Given the description of an element on the screen output the (x, y) to click on. 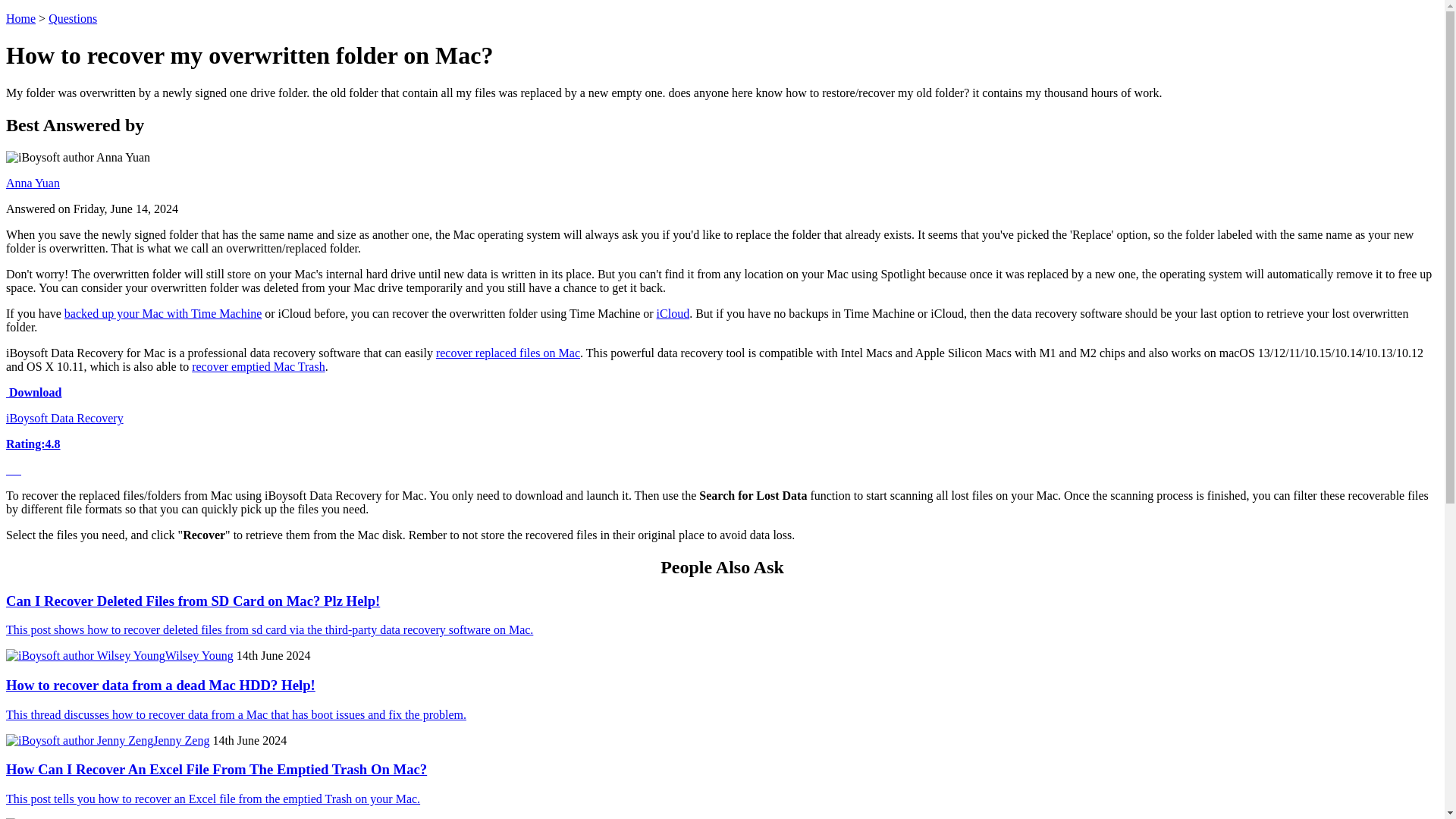
recover emptied Mac Trash (258, 366)
Wilsey Young (198, 655)
recover replaced files on Mac (507, 352)
backed up your Mac with Time Machine (163, 313)
Jenny Zeng (180, 739)
Home (19, 18)
Vain Rowe (176, 818)
Questions (72, 18)
Anna Yuan (32, 182)
iCloud (673, 313)
